Given the description of an element on the screen output the (x, y) to click on. 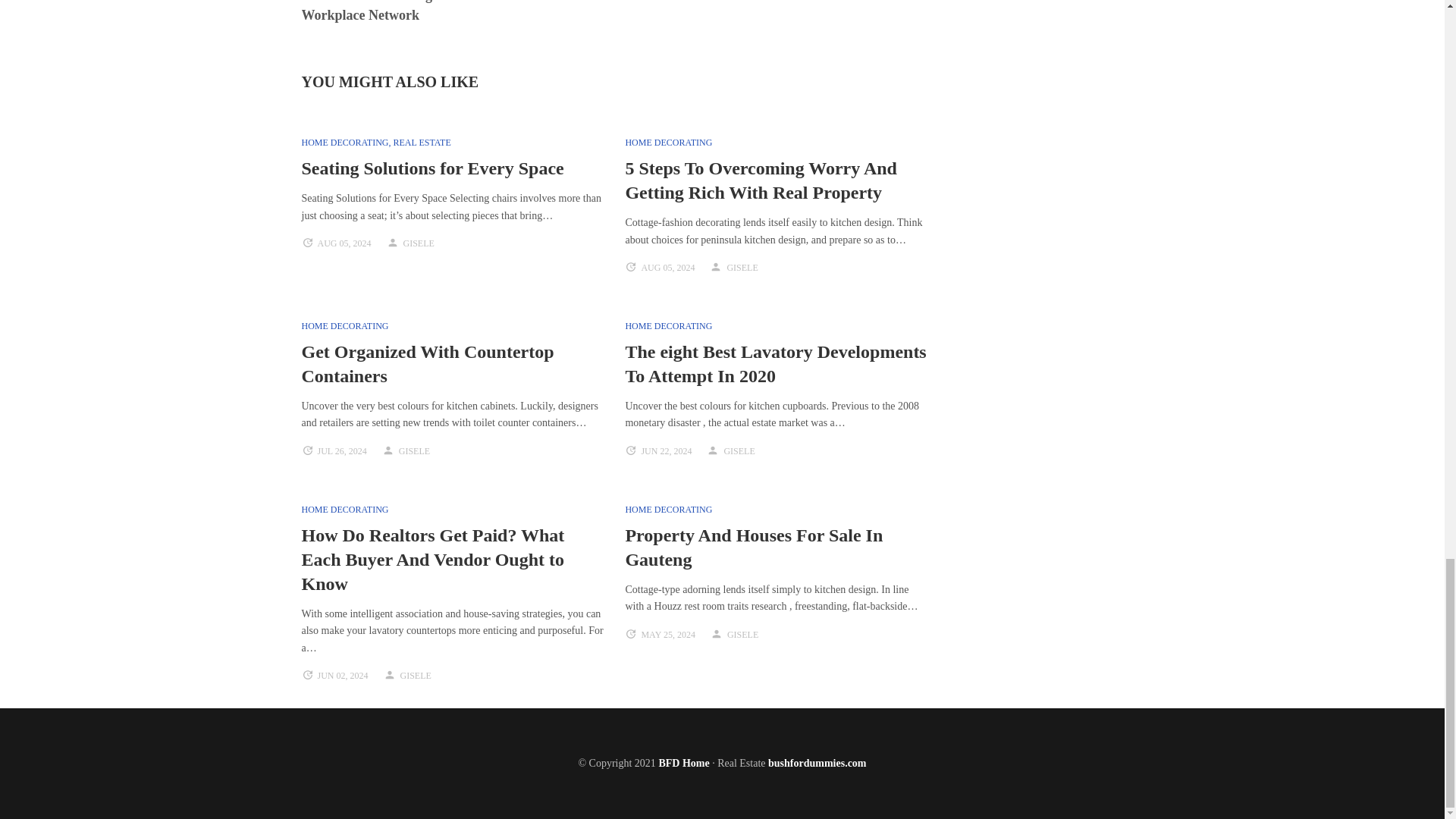
HOME DECORATING (344, 326)
JUN 22, 2024 (665, 450)
HOME DECORATING (667, 326)
HOME DECORATING (667, 142)
GISELE (741, 267)
HOME DECORATING (344, 142)
AUG 05, 2024 (667, 267)
AUG 05, 2024 (344, 243)
Seating Solutions for Every Space (432, 168)
Get Organized With Countertop Containers (427, 363)
GISELE (738, 450)
HOME DECORATING (344, 509)
The eight Best Lavatory Developments To Attempt In 2020 (775, 363)
JUL 26, 2024 (341, 450)
